Given the description of an element on the screen output the (x, y) to click on. 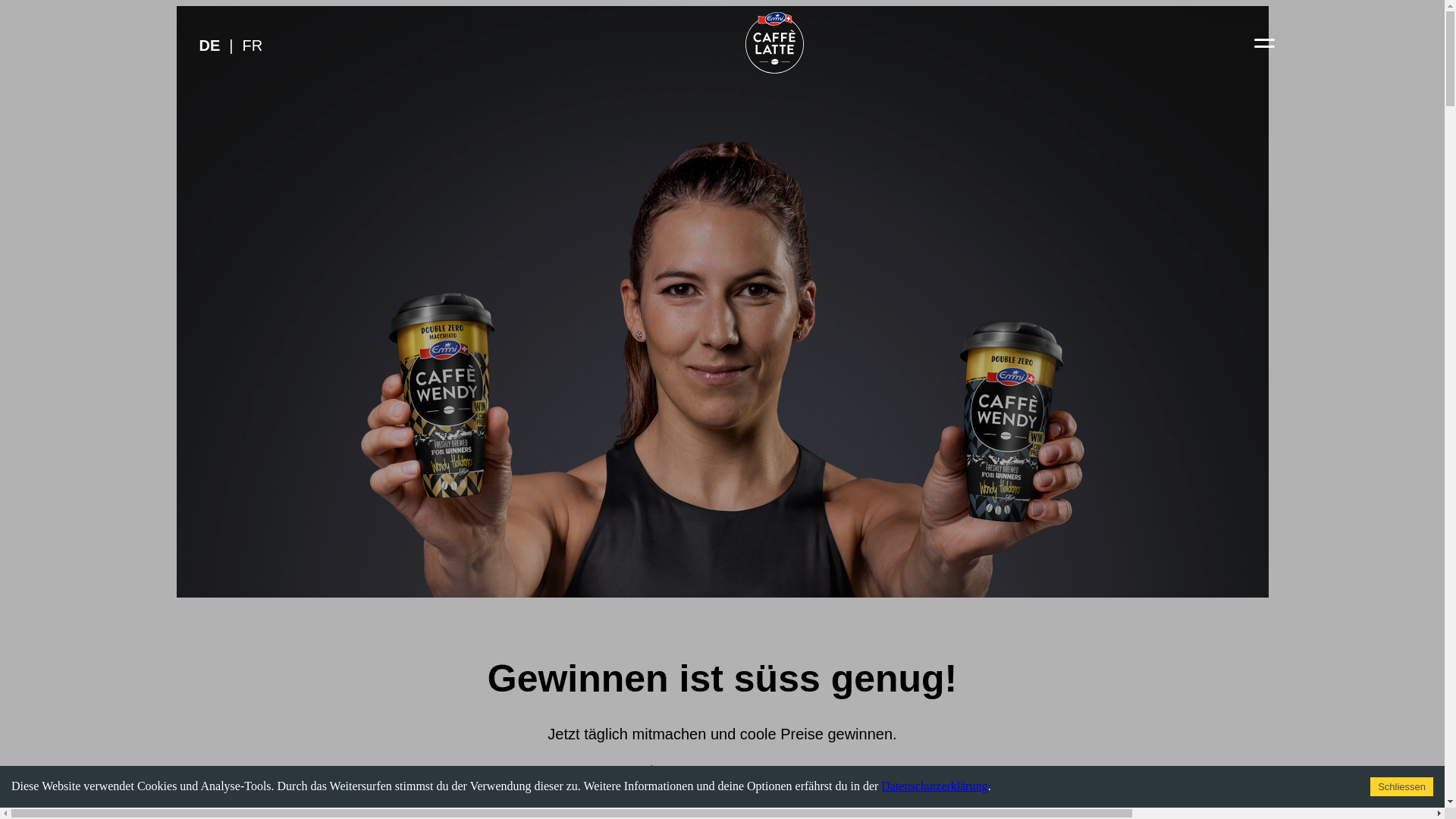
Schliessen Element type: text (1401, 786)
